Given the description of an element on the screen output the (x, y) to click on. 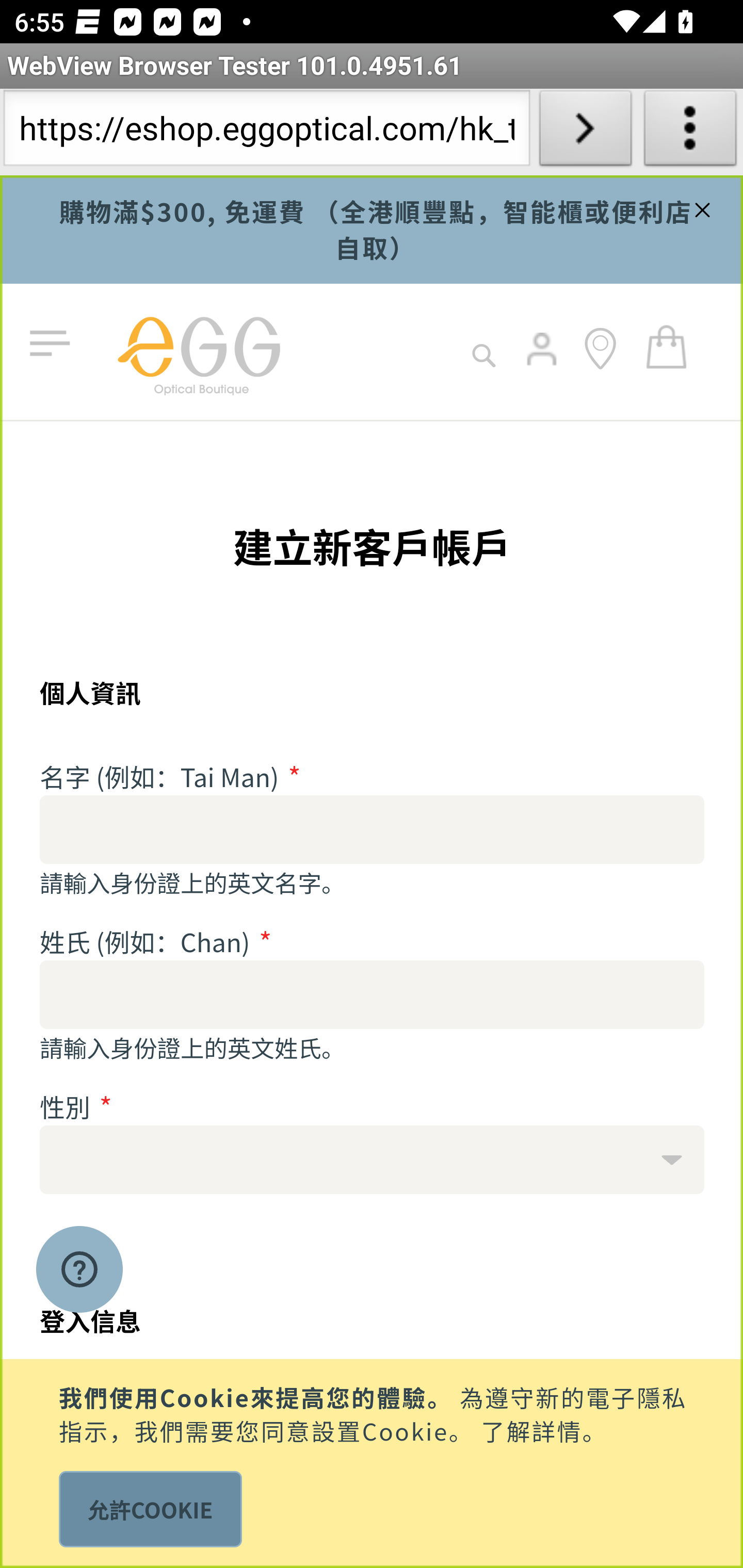
Load URL (585, 132)
About WebView (690, 132)
 (699, 206)
store logo eGG 網上商店 (198, 351)
切換導航 (54, 343)
我的購物車 (666, 345)
login (543, 362)
性別* (372, 1159)
Opens a widget where you can find more information (79, 1270)
了解詳情 (531, 1429)
允許COOKIE (149, 1509)
